Given the description of an element on the screen output the (x, y) to click on. 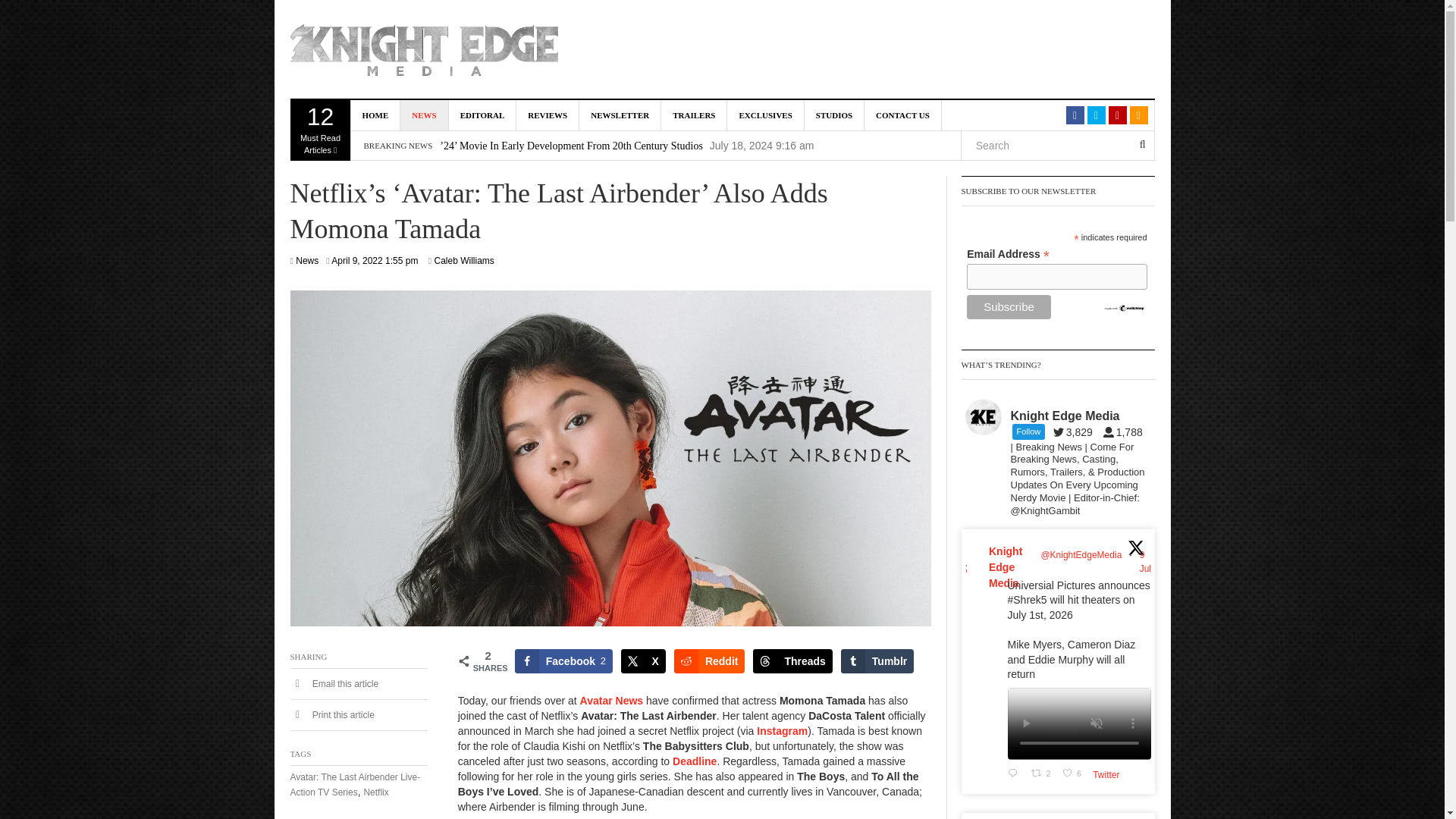
Share on Tumblr (877, 661)
Share on Facebook (563, 661)
REVIEWS (547, 114)
Share on Reddit (709, 661)
Subscribe (1008, 306)
EDITORAL (482, 114)
NEWSLETTER (620, 114)
Share on X (643, 661)
Share on Threads (791, 661)
CONTACT US (903, 114)
NEWS (424, 114)
STUDIOS (834, 114)
TRAILERS (319, 129)
Knight Edge Media (693, 114)
